Given the description of an element on the screen output the (x, y) to click on. 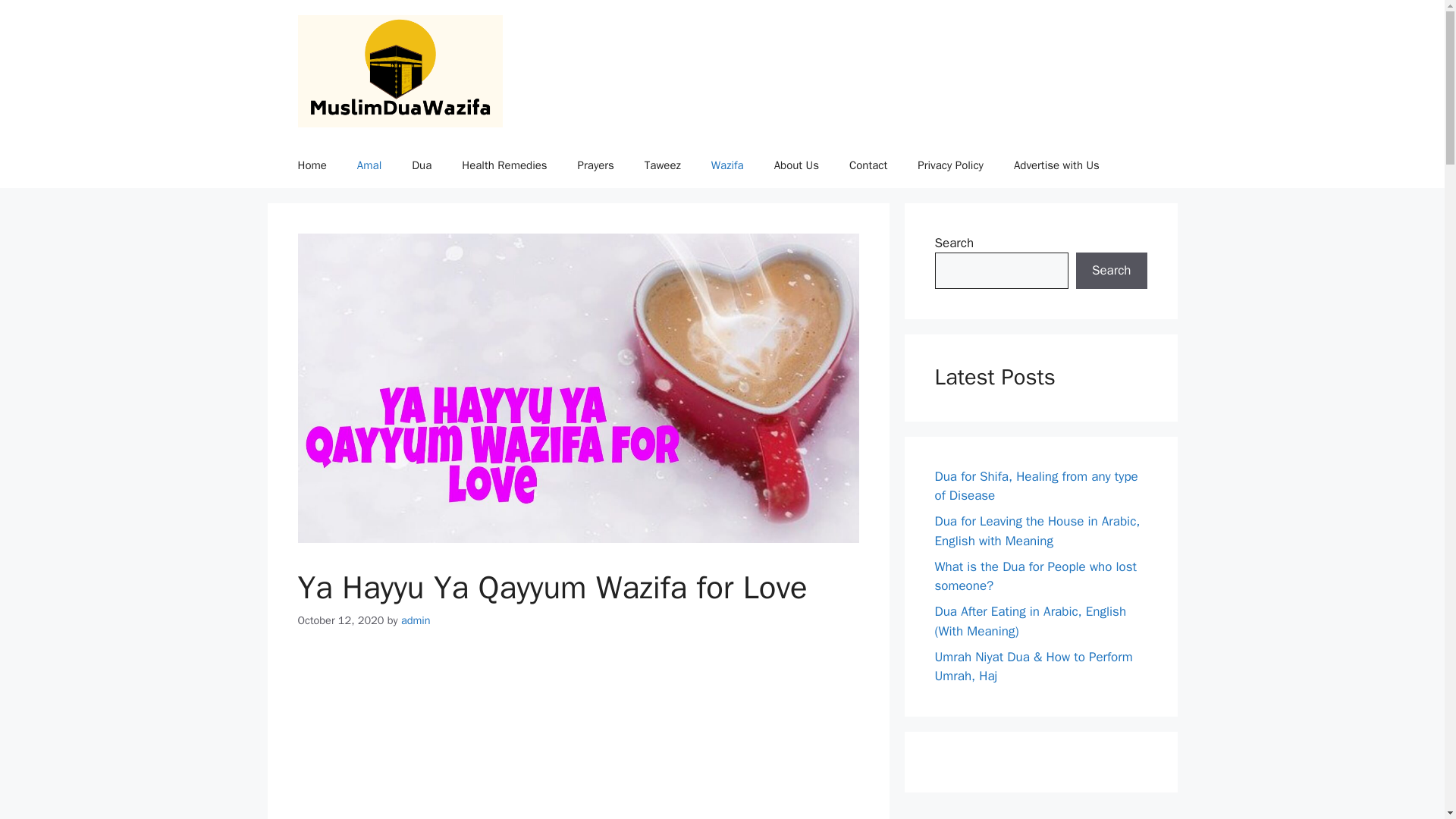
Search (1111, 270)
Dua (421, 165)
Home (311, 165)
View all posts by admin (415, 620)
Advertisement (578, 737)
Prayers (595, 165)
About Us (796, 165)
Taweez (661, 165)
Advertise with Us (1056, 165)
admin (415, 620)
Contact (868, 165)
Privacy Policy (950, 165)
Amal (369, 165)
Wazifa (726, 165)
Health Remedies (504, 165)
